Given the description of an element on the screen output the (x, y) to click on. 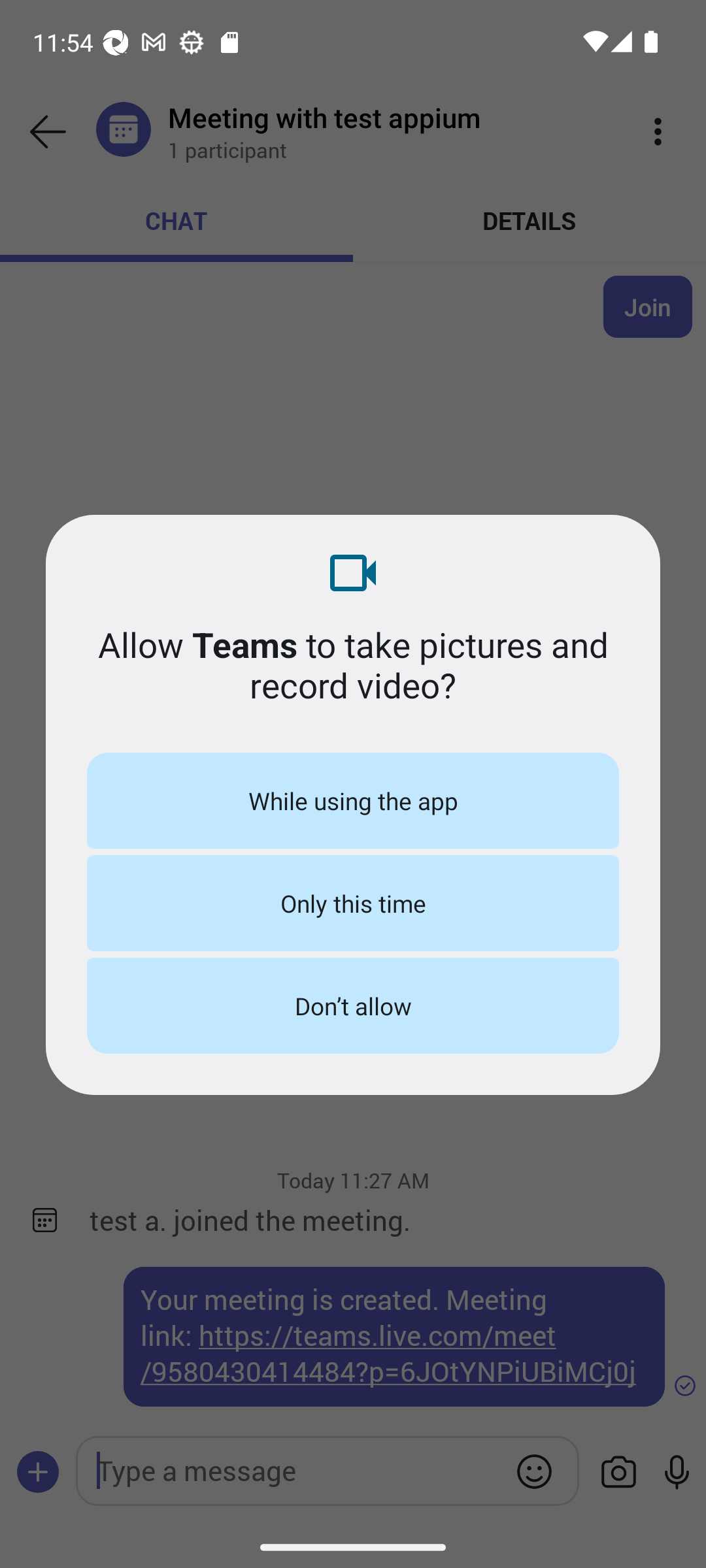
While using the app (352, 800)
Only this time (352, 902)
Don’t allow (352, 1005)
